Given the description of an element on the screen output the (x, y) to click on. 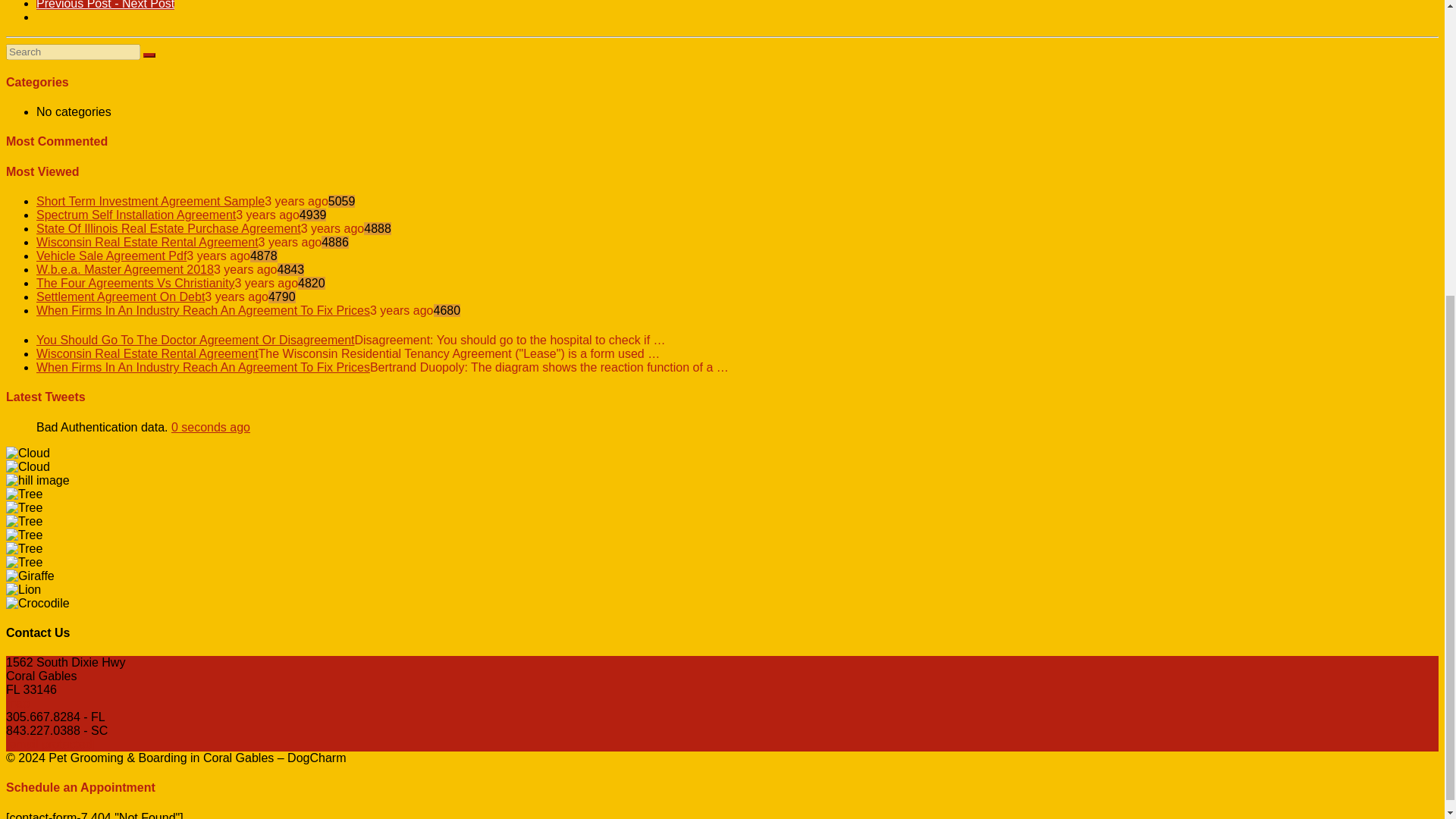
Wisconsin Real Estate Rental Agreement (147, 353)
Spectrum Self Installation Agreement (135, 214)
W.b.e.a. Master Agreement 2018 (125, 269)
When Firms In An Industry Reach An Agreement To Fix Prices (202, 309)
Vehicle Sale Agreement Pdf (111, 255)
Short Term Investment Agreement Sample (150, 201)
0 seconds ago (210, 427)
When Firms In An Industry Reach An Agreement To Fix Prices (202, 367)
Settlement Agreement On Debt (120, 296)
map (30, 709)
You Should Go To The Doctor Agreement Or Disagreement (195, 339)
Previous Post - Next Post (105, 4)
State Of Illinois Real Estate Purchase Agreement (168, 228)
Wisconsin Real Estate Rental Agreement (147, 241)
The Four Agreements Vs Christianity (135, 282)
